Given the description of an element on the screen output the (x, y) to click on. 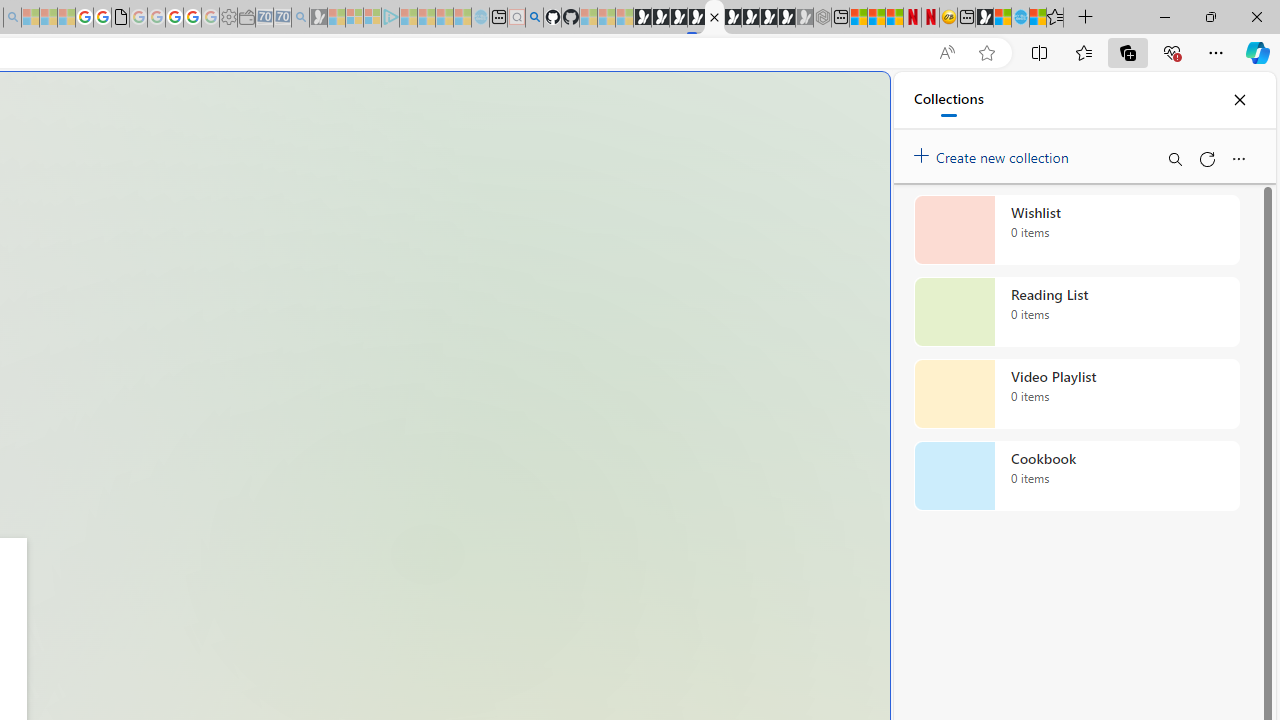
Settings - Sleeping (228, 17)
Microsoft Start Gaming - Sleeping (317, 17)
Tabs you've opened (276, 265)
Play Cave FRVR in your browser | Games from Microsoft Start (678, 17)
github - Search (534, 17)
Home | Sky Blue Bikes - Sky Blue Bikes - Sleeping (480, 17)
